Given the description of an element on the screen output the (x, y) to click on. 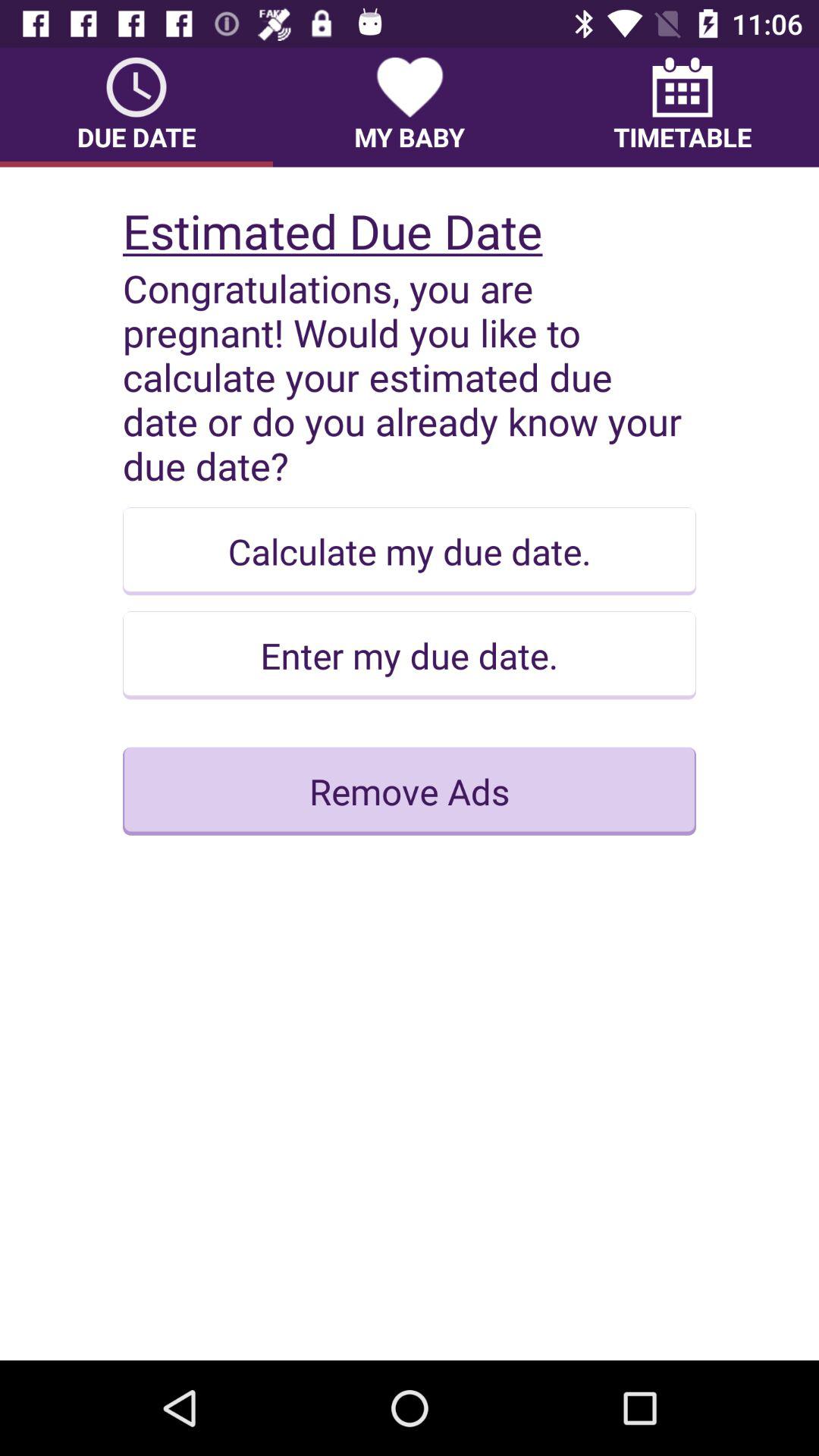
flip to timetable icon (682, 107)
